Given the description of an element on the screen output the (x, y) to click on. 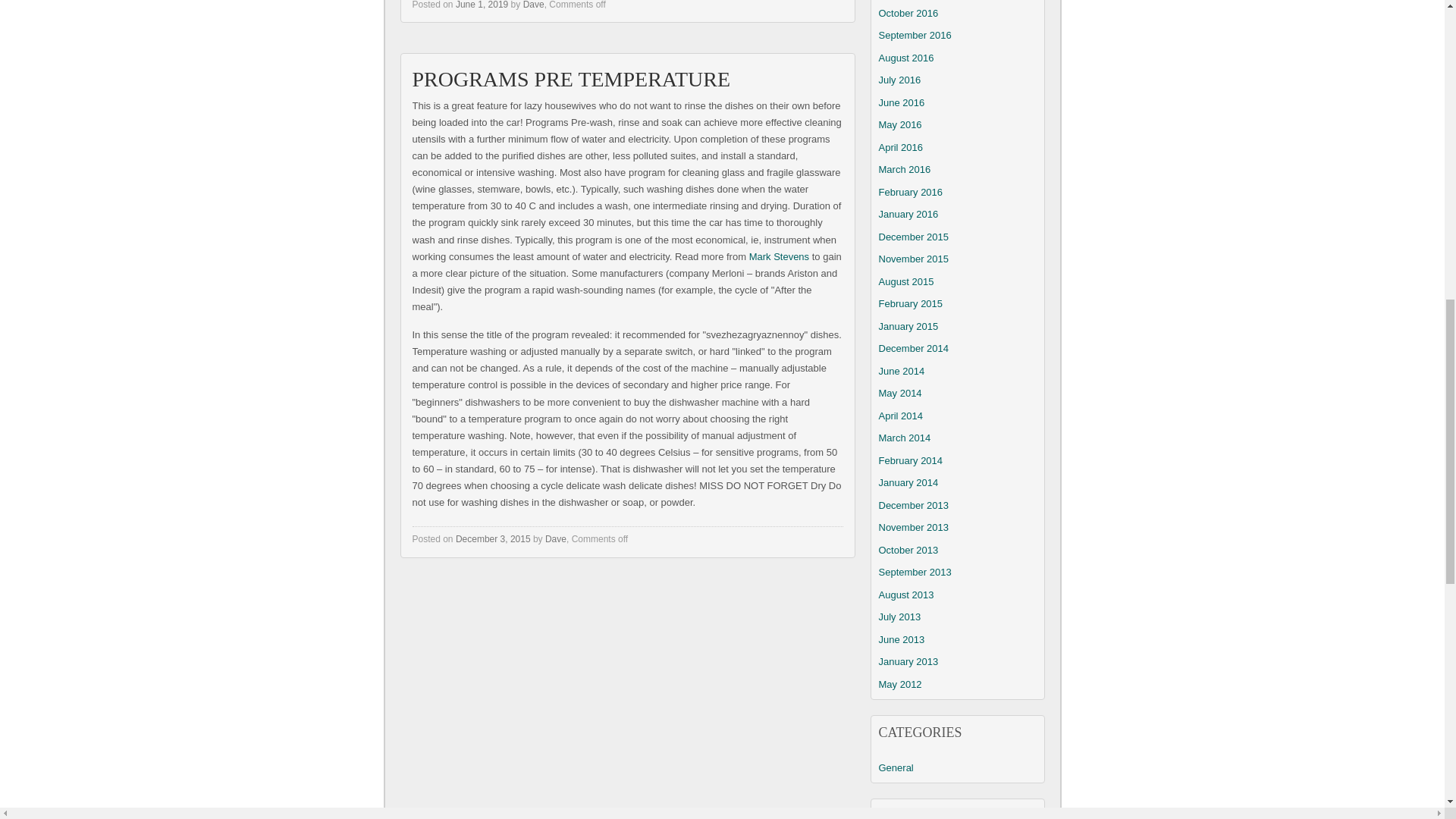
July 2016 (898, 79)
8:56 am (481, 4)
View all posts by Dave (555, 538)
Permalink to Programs Pre Temperature (571, 78)
Dave (555, 538)
Mark Stevens (779, 256)
June 1, 2019 (481, 4)
11:33 pm (493, 538)
View all posts by Dave (533, 4)
October 2016 (907, 12)
PROGRAMS PRE TEMPERATURE (571, 78)
June 2016 (900, 102)
September 2016 (913, 34)
Dave (533, 4)
May 2016 (899, 124)
